Given the description of an element on the screen output the (x, y) to click on. 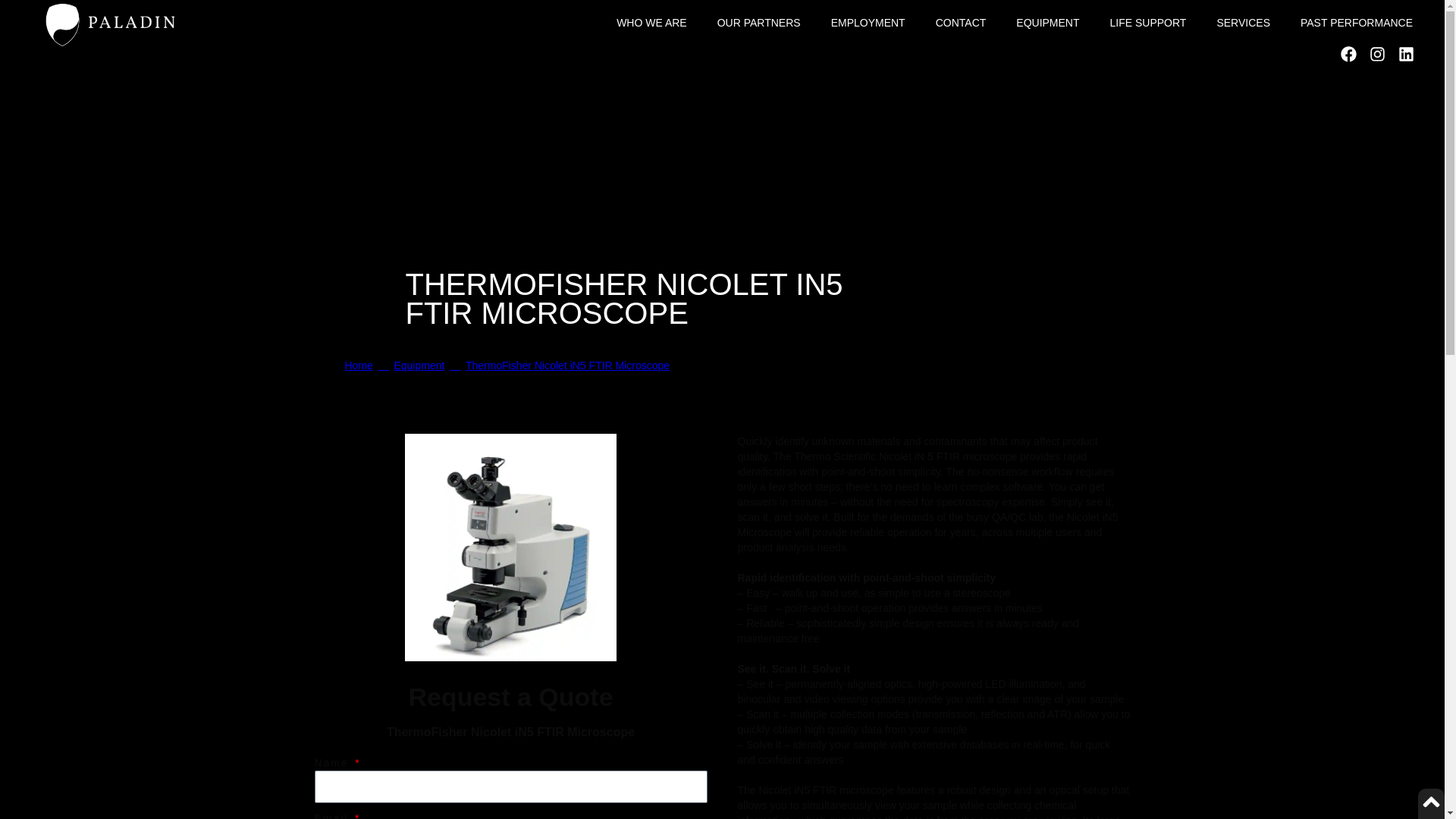
PAST PERFORMANCE (1356, 22)
WHO WE ARE (651, 22)
Equipment (418, 365)
SERVICES (1243, 22)
Linkedin (1405, 53)
Home (357, 365)
EMPLOYMENT (867, 22)
CONTACT (960, 22)
EQUIPMENT (1047, 22)
Instagram (1378, 53)
